Given the description of an element on the screen output the (x, y) to click on. 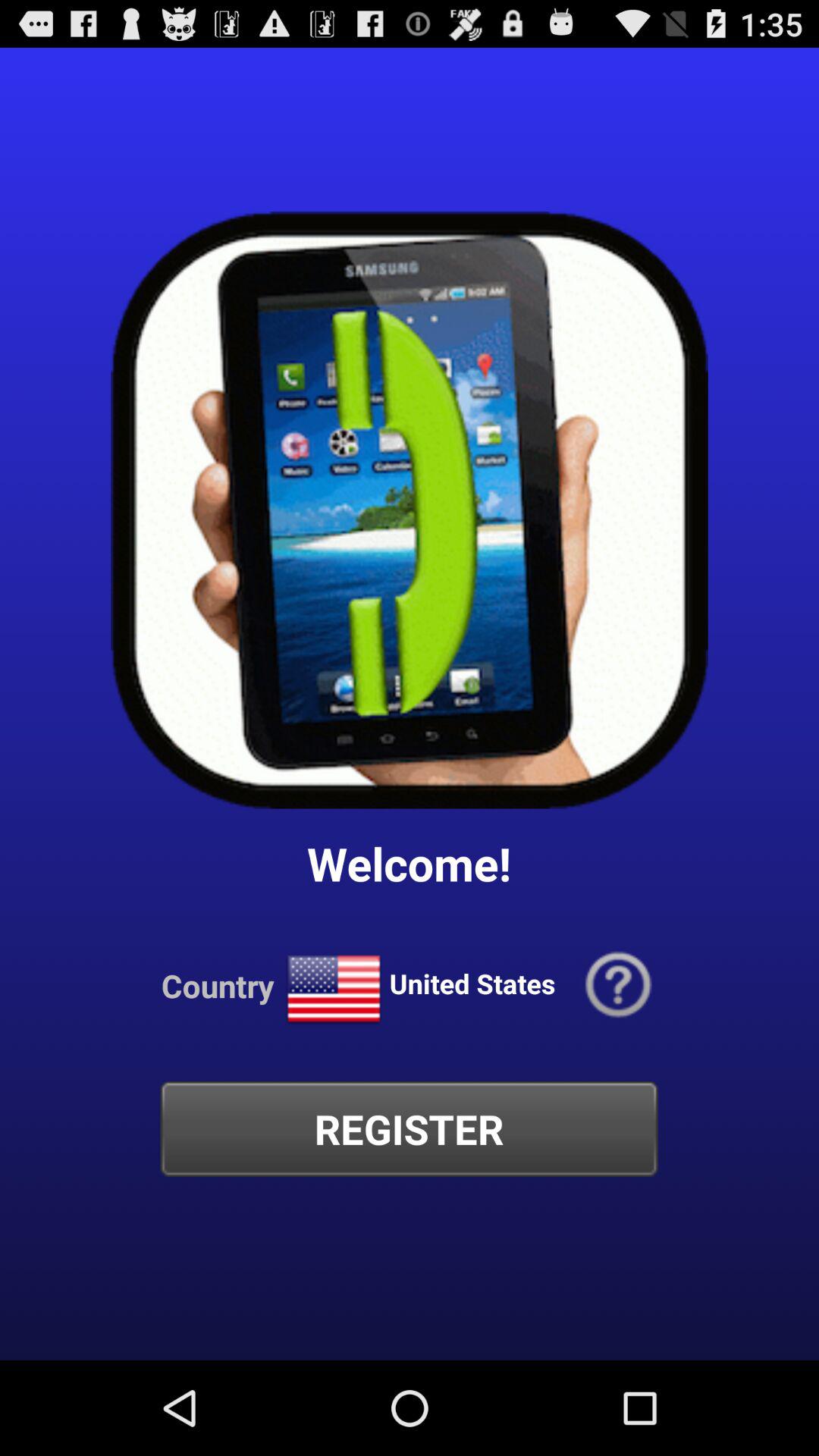
select icon next to the united states (333, 989)
